Given the description of an element on the screen output the (x, y) to click on. 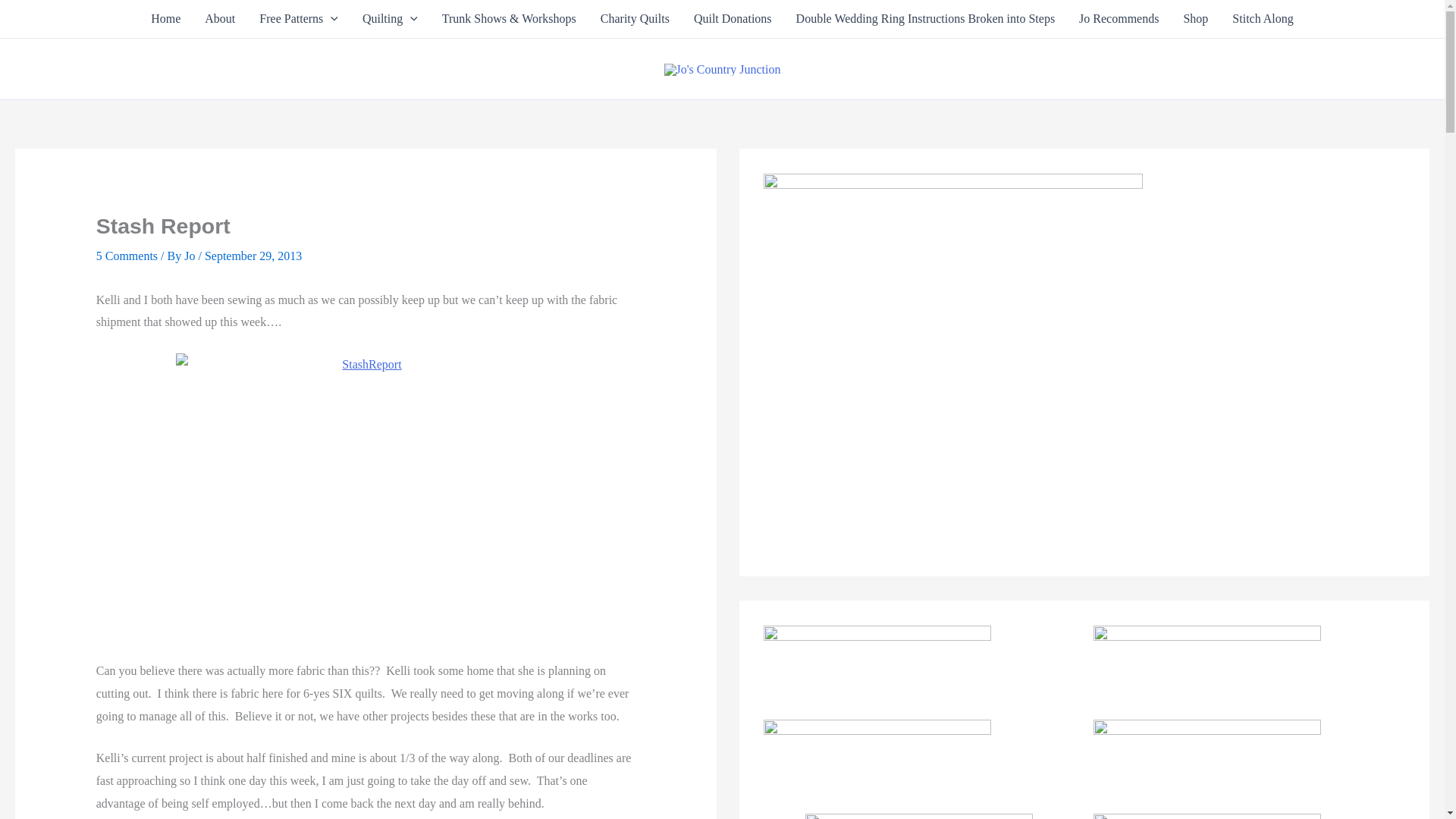
Quilting (389, 18)
Charity Quilts (634, 18)
Free Patterns (298, 18)
View all posts by Jo (191, 255)
Quilts of 2012 (389, 18)
Home (165, 18)
About (219, 18)
Quilt Donations (732, 18)
